Given the description of an element on the screen output the (x, y) to click on. 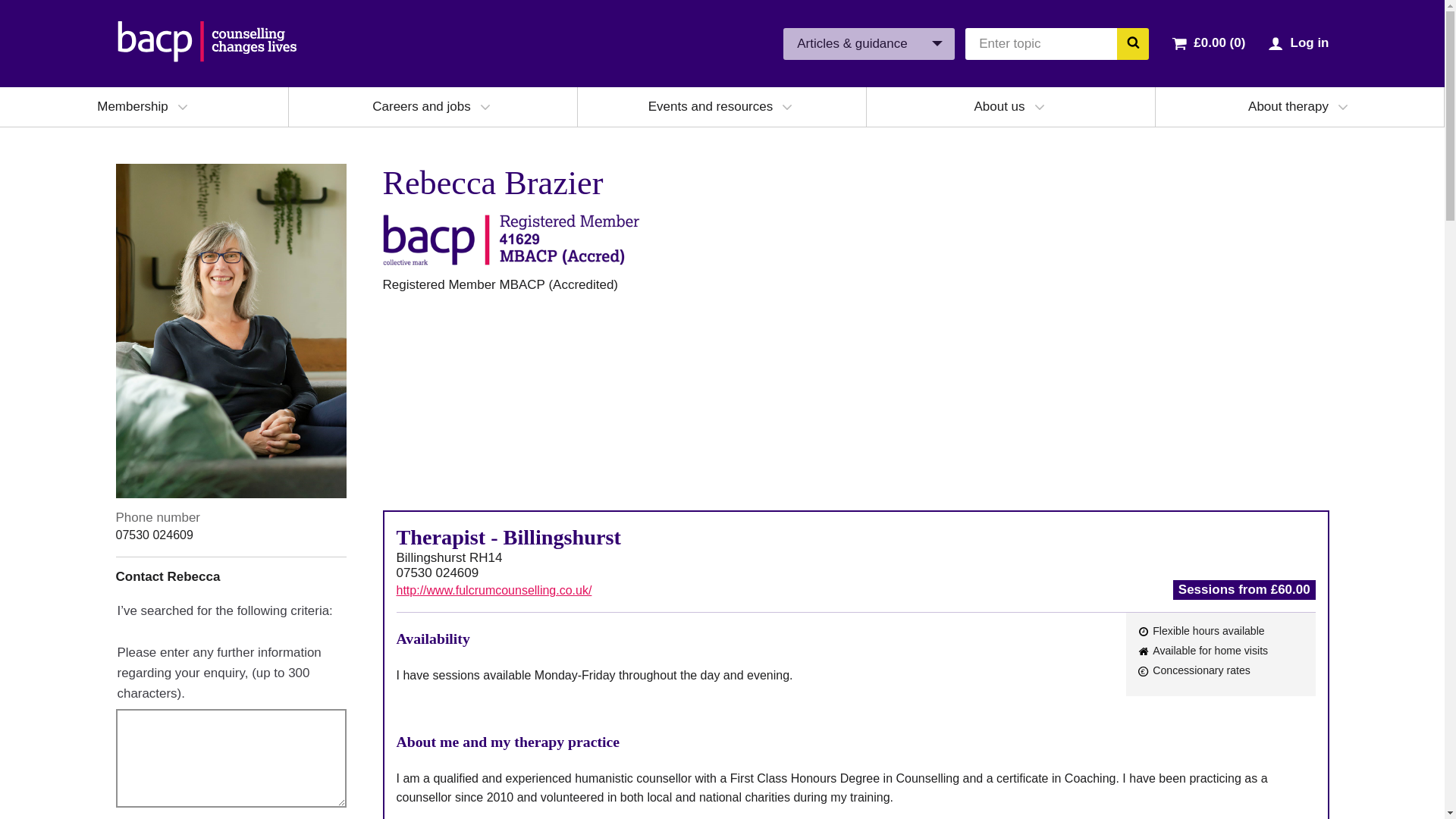
Search the BACP website (1132, 42)
Events and resources (710, 106)
Careers and jobs (421, 106)
Log in (1309, 42)
Membership (132, 106)
